Given the description of an element on the screen output the (x, y) to click on. 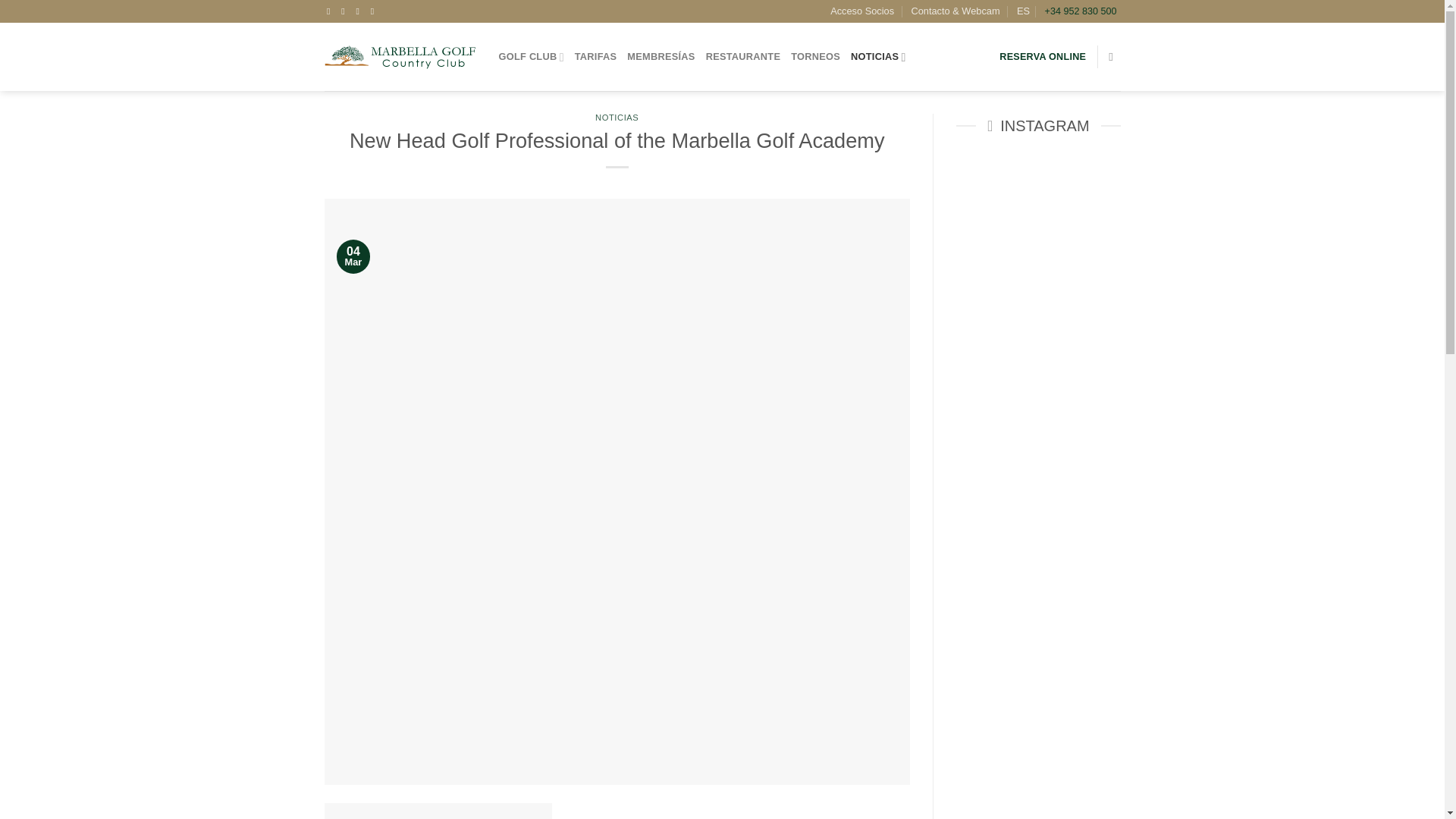
NOTICIAS (617, 117)
NOTICIAS (877, 56)
RESTAURANTE (743, 56)
Monty (437, 811)
GOLF CLUB (531, 56)
RESERVA ONLINE (1042, 56)
TARIFAS (596, 56)
Acceso Socios (861, 11)
TORNEOS (815, 56)
